Given the description of an element on the screen output the (x, y) to click on. 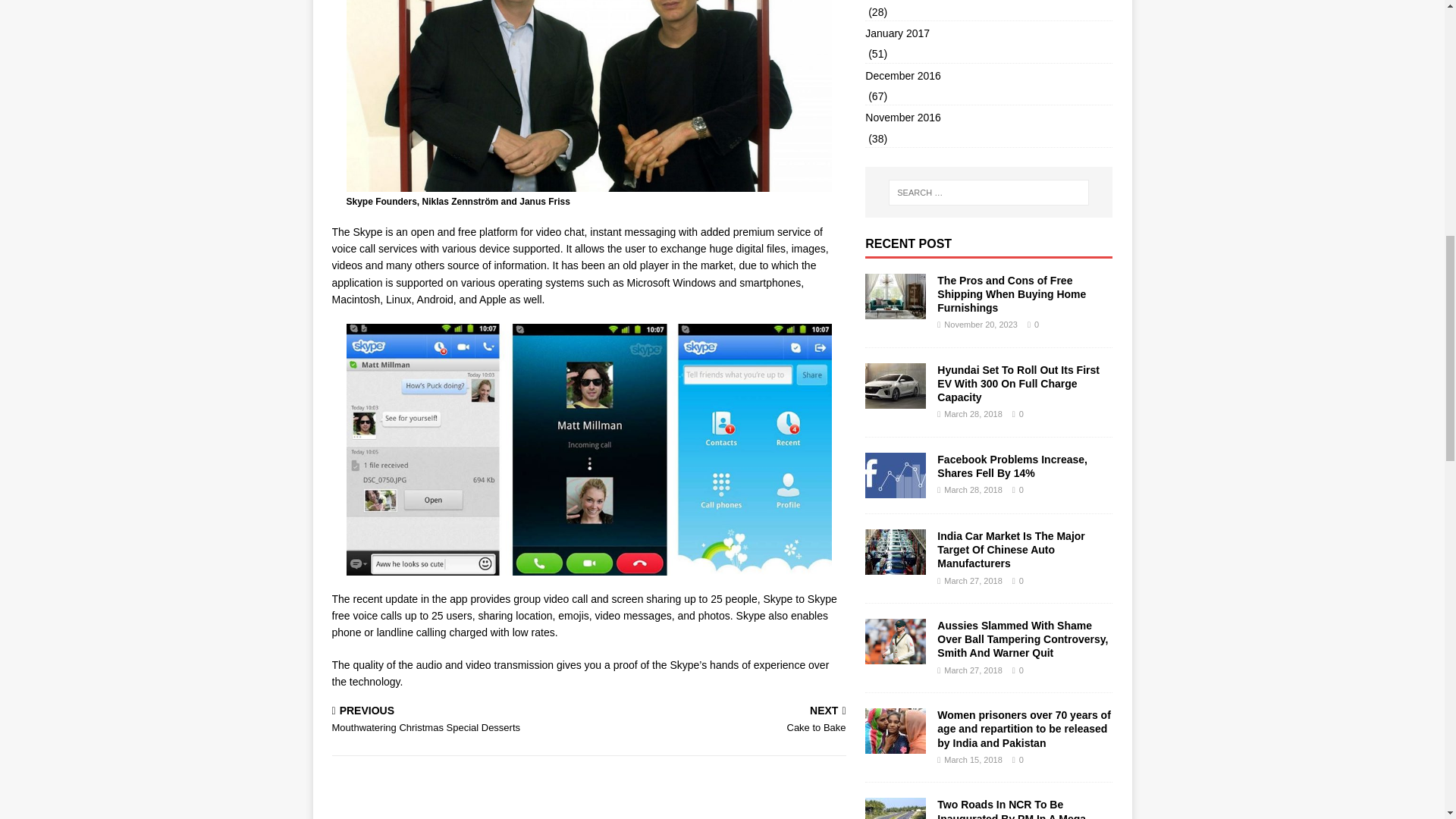
December 2016 (720, 720)
January 2017 (988, 75)
February 2017 (988, 33)
